Given the description of an element on the screen output the (x, y) to click on. 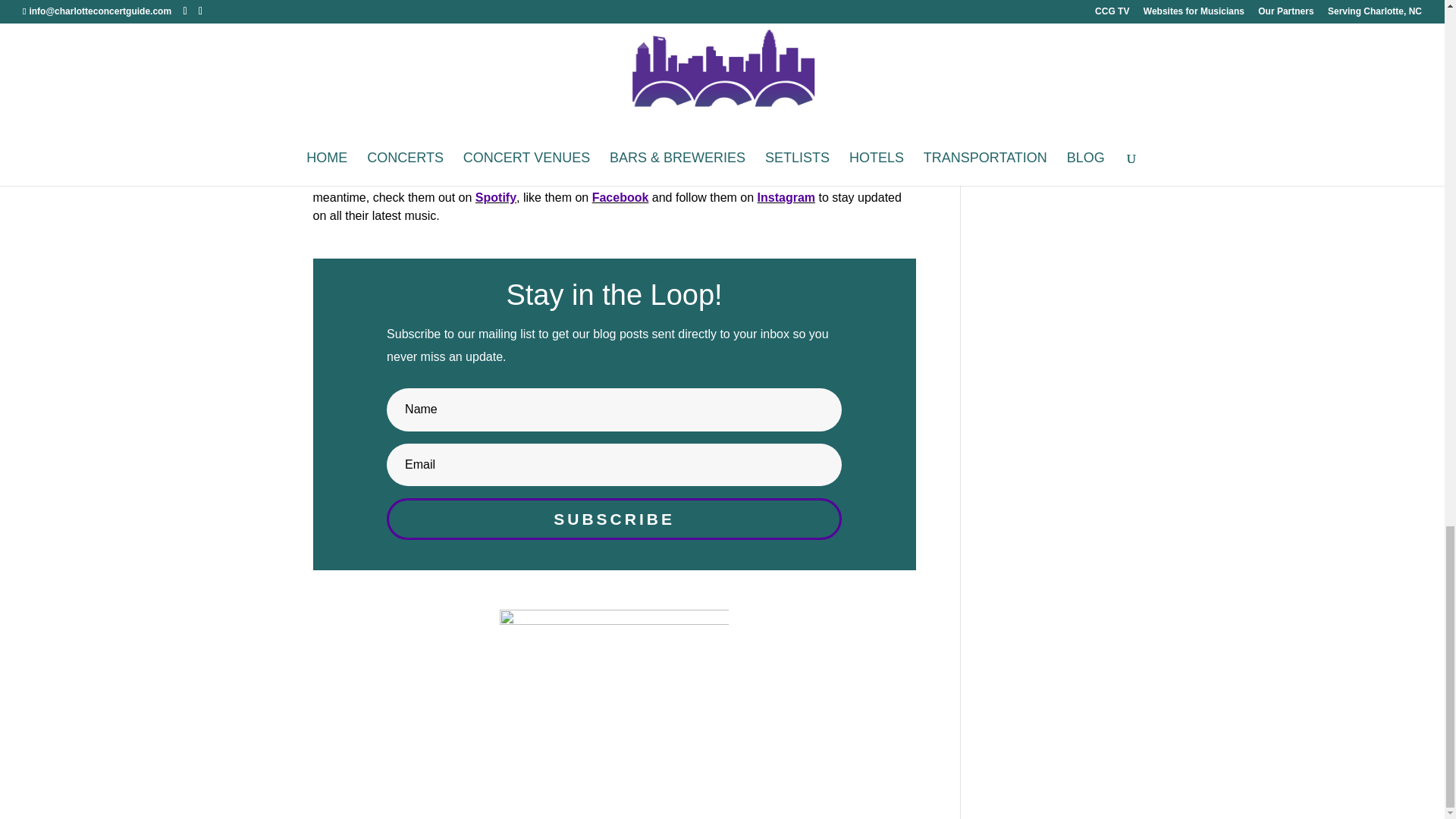
SUBSCRIBE (614, 517)
Spotify (496, 196)
Instagram (786, 196)
Facebook (620, 196)
